Given the description of an element on the screen output the (x, y) to click on. 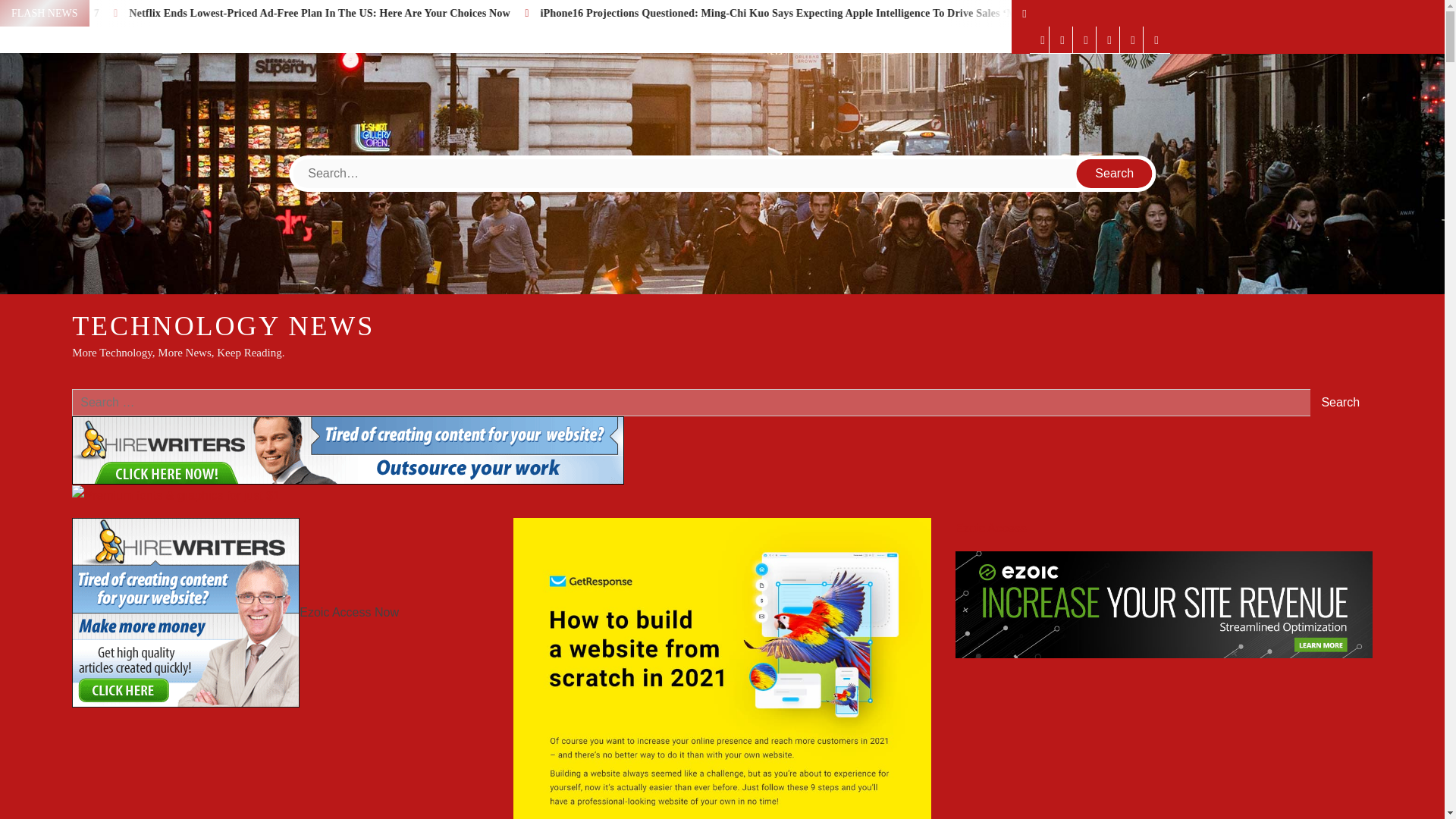
Search (1115, 173)
General (1043, 39)
Search (1340, 402)
Search (1115, 173)
Search (1340, 402)
Search (1115, 173)
Future Cars (1085, 39)
Contact us (1156, 39)
Space Technology (1109, 39)
TECHNOLOGY NEWS (222, 326)
Robots (1062, 39)
